Given the description of an element on the screen output the (x, y) to click on. 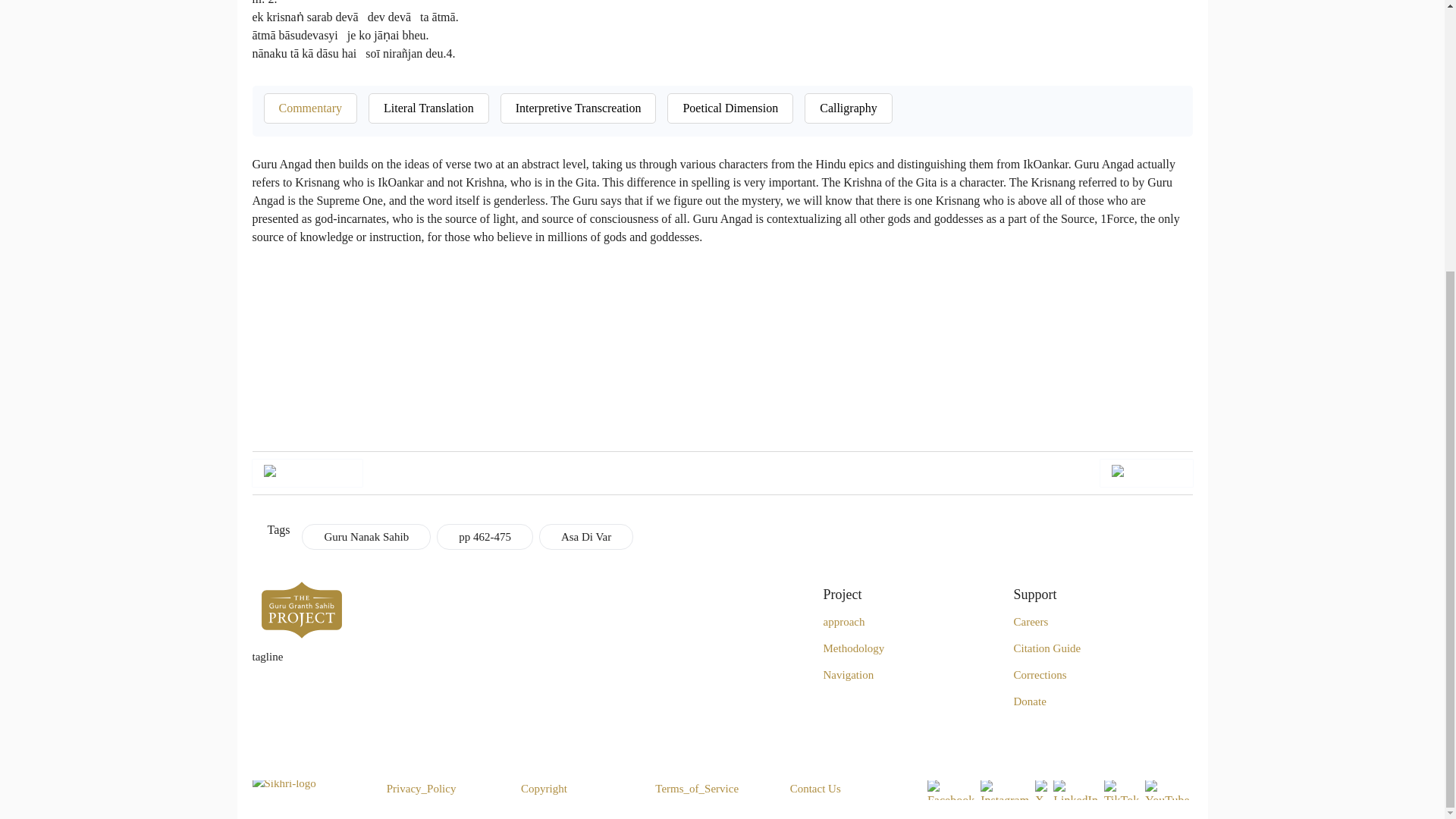
Contact Us (815, 788)
Corrections (1039, 674)
Copyright (544, 788)
Citation Guide (1046, 648)
Navigation (849, 674)
Donate (1029, 701)
approach (844, 621)
Careers (1030, 621)
Methodology (854, 648)
